Given the description of an element on the screen output the (x, y) to click on. 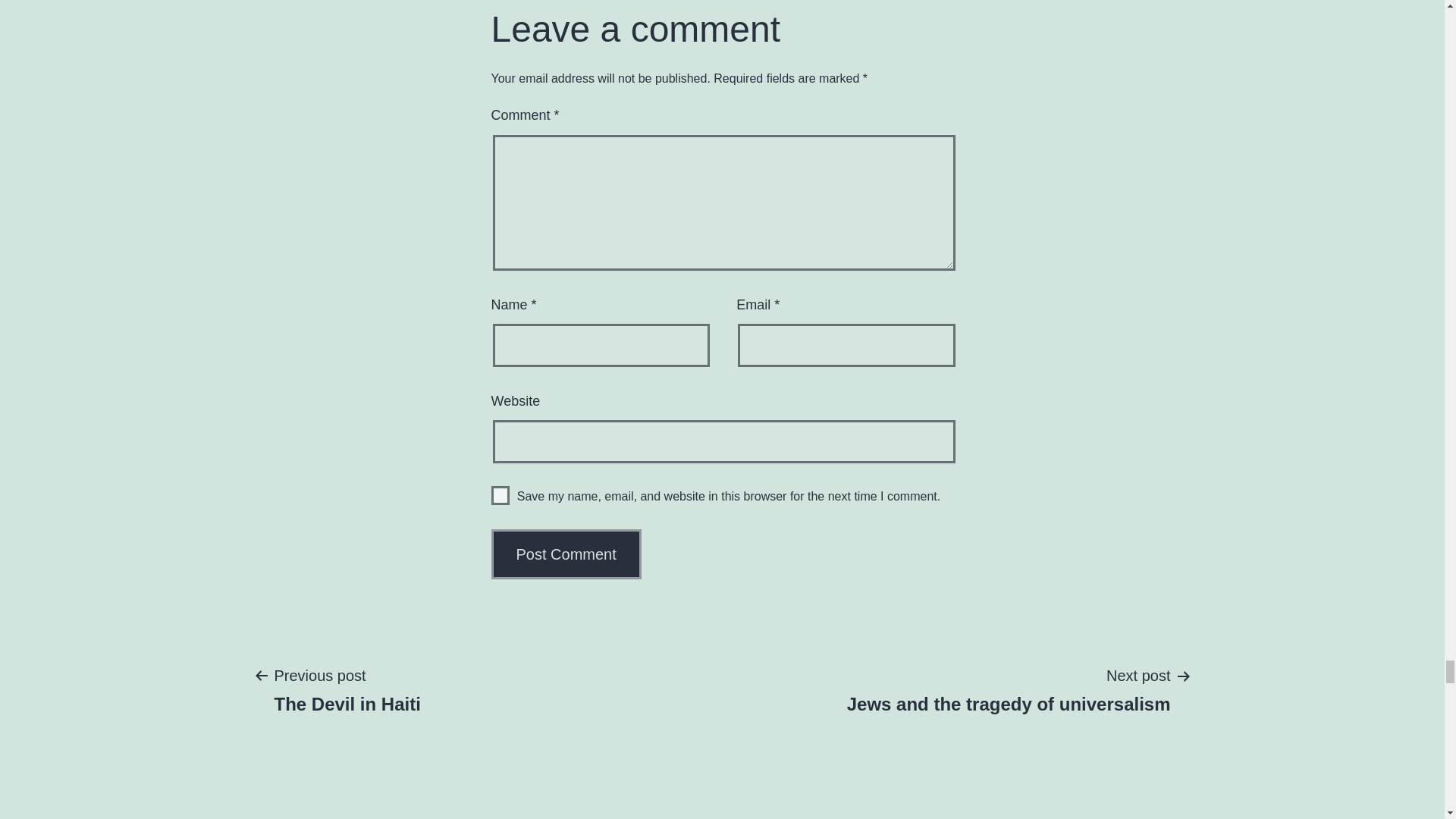
yes (500, 495)
Post Comment (567, 554)
